Given the description of an element on the screen output the (x, y) to click on. 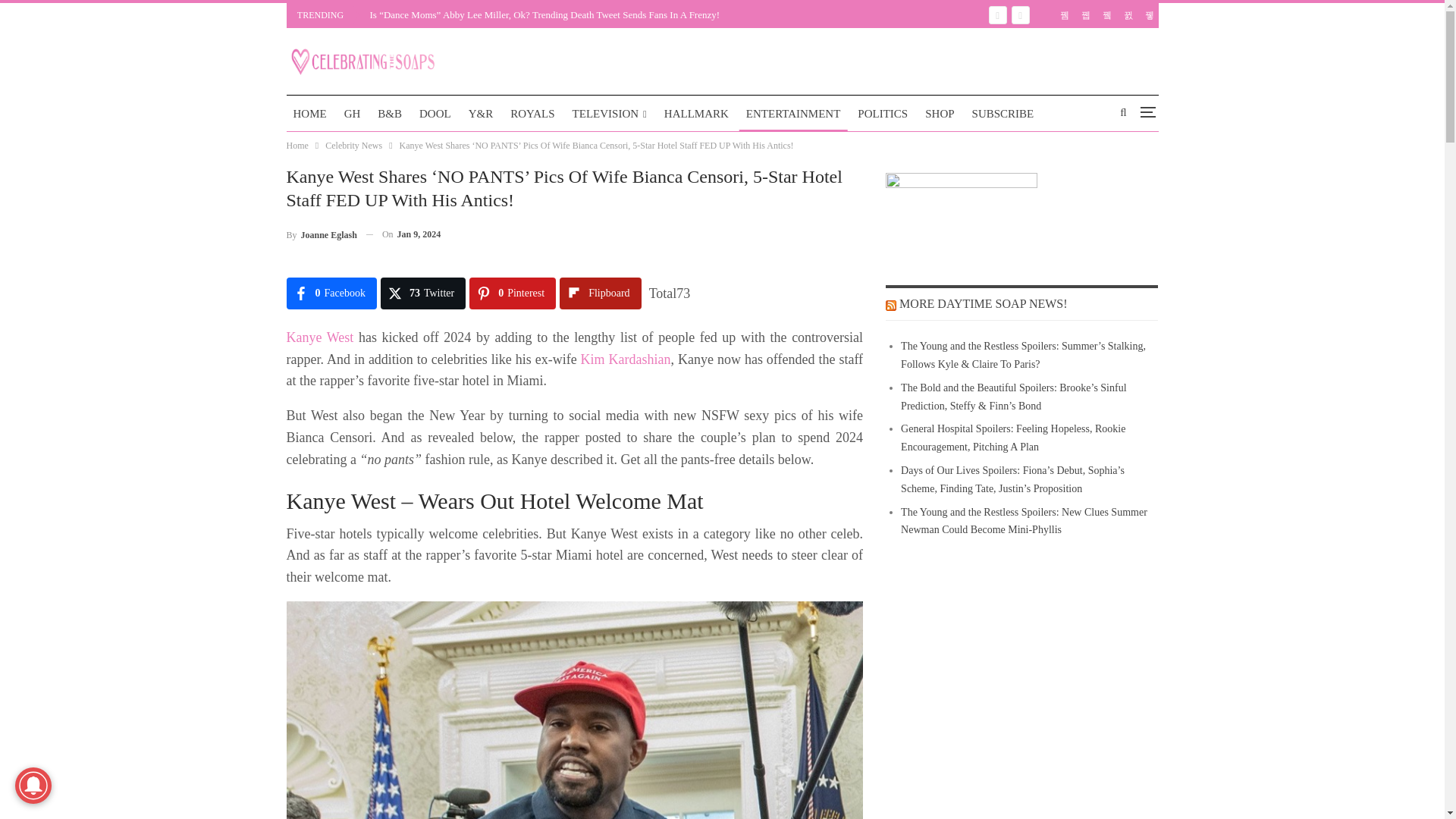
Share on Flipboard (599, 293)
GH (352, 113)
Share on Facebook (331, 293)
TELEVISION (609, 113)
Browse Author Articles (321, 234)
Share on Pinterest (512, 293)
Share on Twitter (422, 293)
Total (669, 293)
DOOL (435, 113)
ROYALS (531, 113)
HOME (309, 113)
